Given the description of an element on the screen output the (x, y) to click on. 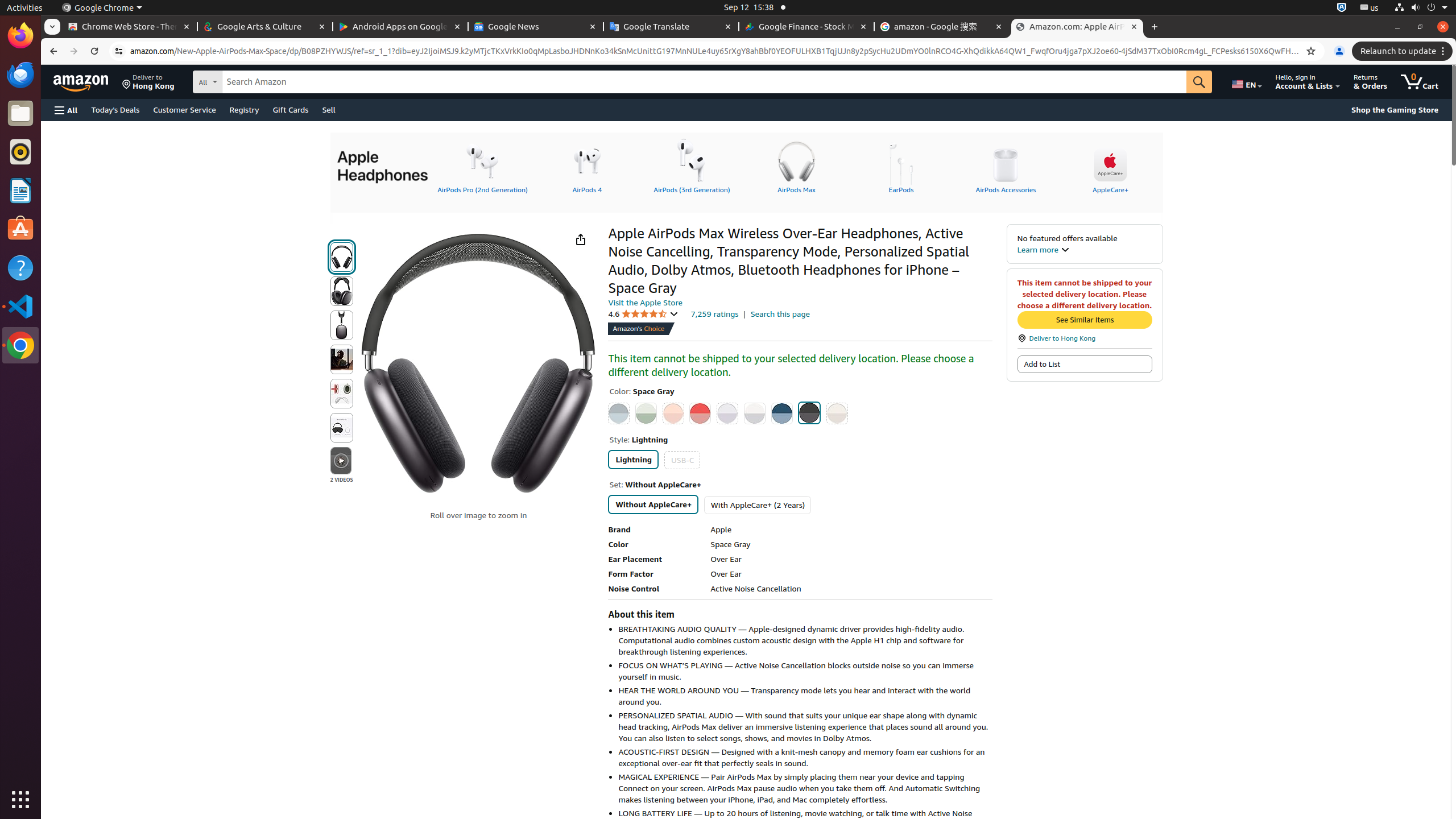
Firefox Web Browser Element type: push-button (20, 35)
With AppleCare+ (2 Years) Element type: push-button (757, 504)
Back Element type: push-button (51, 50)
:1.72/StatusNotifierItem Element type: menu (1341, 7)
Learn more Element type: push-button (1042, 249)
